Given the description of an element on the screen output the (x, y) to click on. 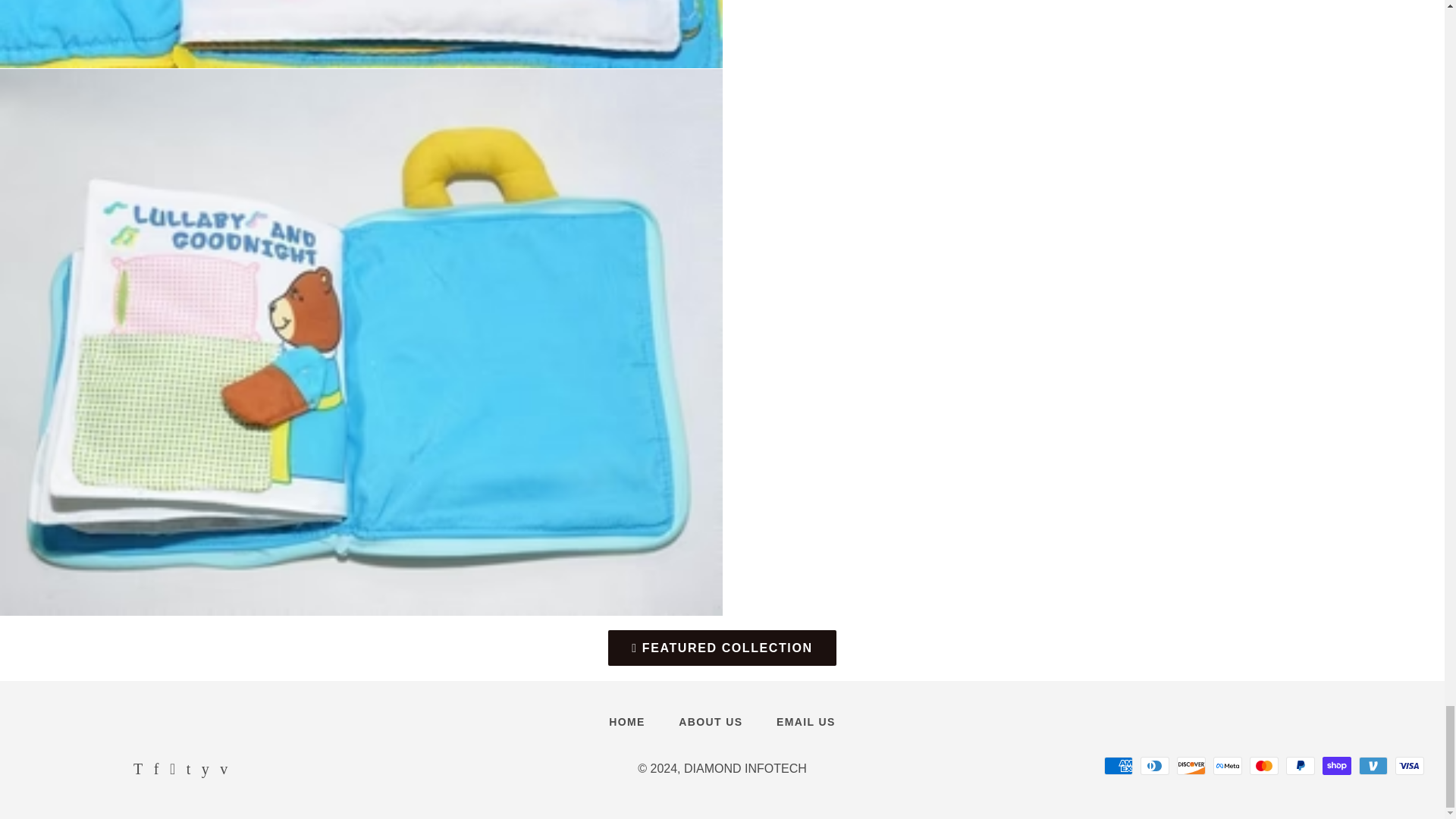
Shop Pay (1336, 765)
American Express (1117, 765)
Discover (1190, 765)
ABOUT US (710, 722)
HOME (627, 722)
Mastercard (1263, 765)
Diners Club (1154, 765)
Meta Pay (1226, 765)
EMAIL US (805, 722)
PayPal (1299, 765)
